Given the description of an element on the screen output the (x, y) to click on. 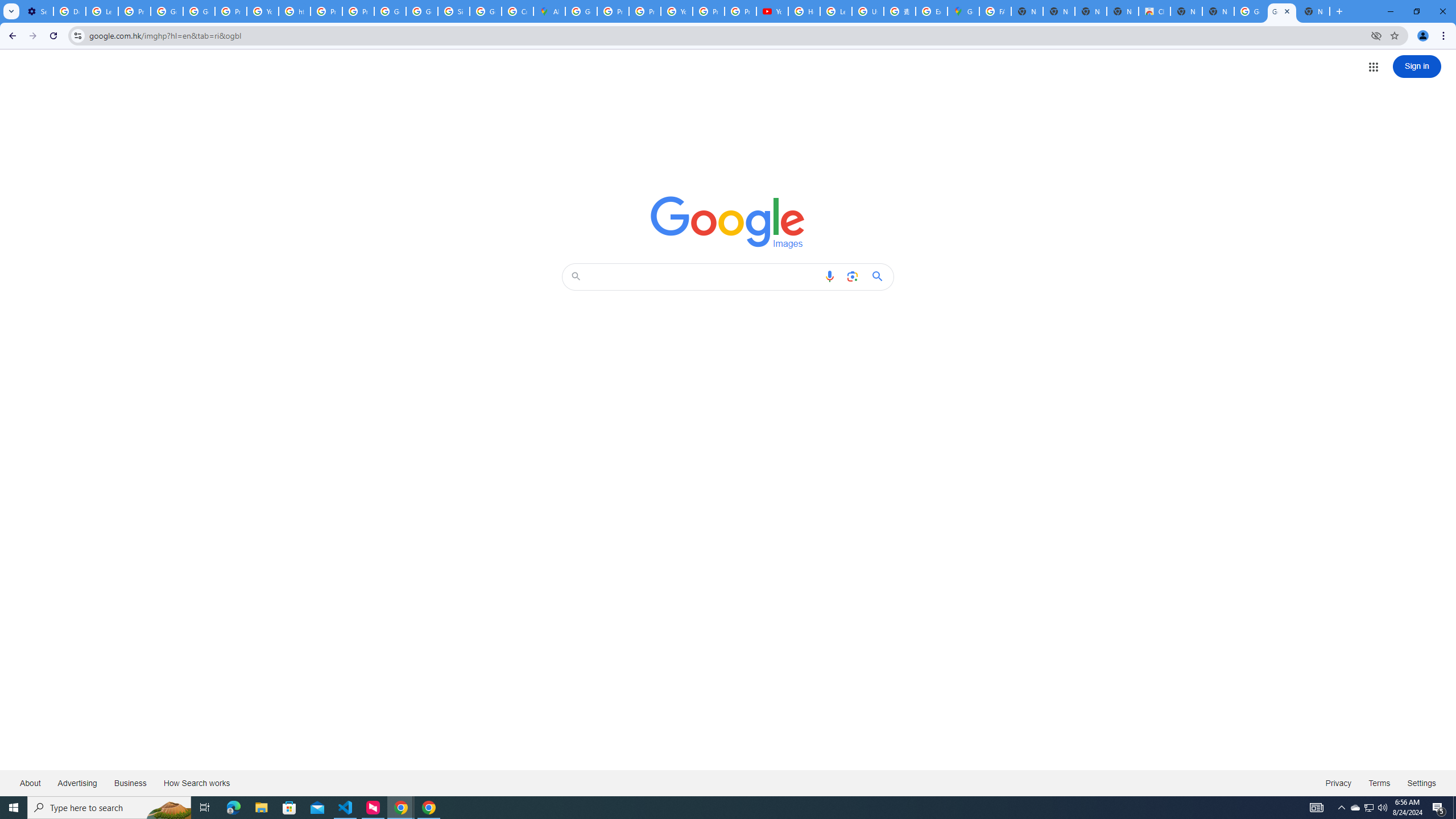
Address and search bar (726, 35)
Settings - On startup (37, 11)
Search (703, 276)
Create your Google Account (517, 11)
